Given the description of an element on the screen output the (x, y) to click on. 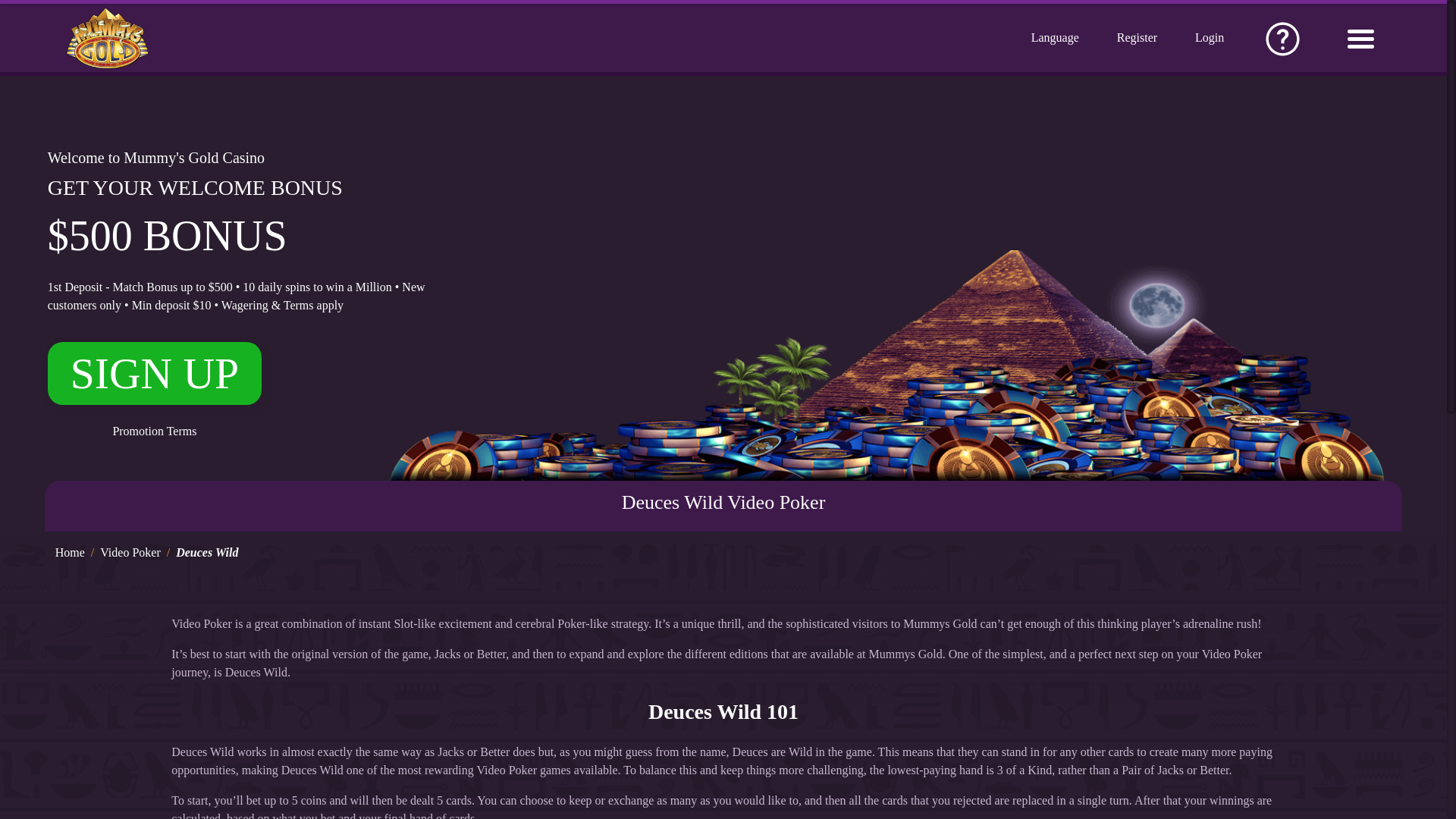
SIGN UP (155, 383)
Register (1136, 38)
Login (1209, 38)
Video Poker (130, 552)
Language (1054, 38)
Promotion Terms (155, 431)
Home (69, 552)
Deuces Wild (207, 552)
